Given the description of an element on the screen output the (x, y) to click on. 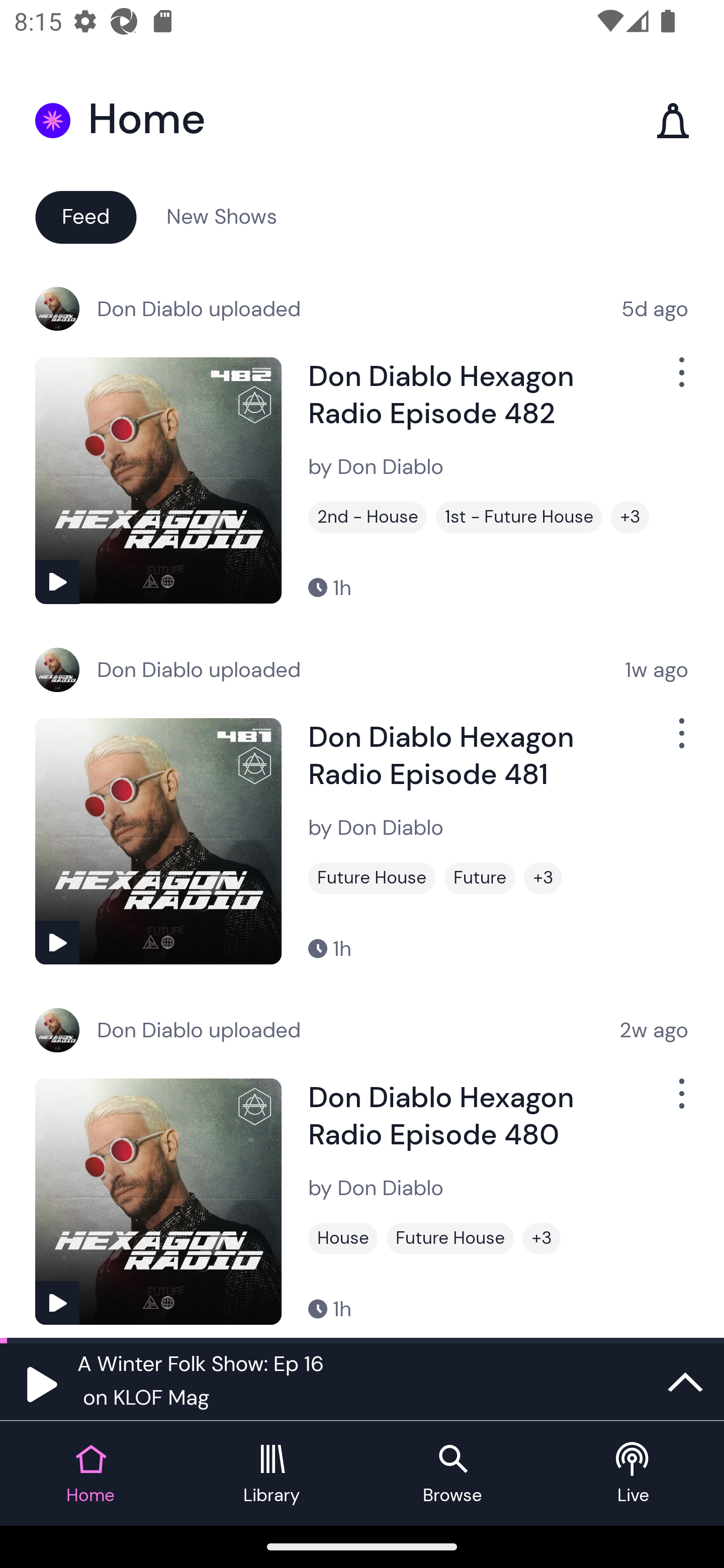
Feed (85, 216)
New Shows (221, 216)
Show Options Menu Button (679, 379)
2nd - House (367, 517)
1st - Future House (518, 517)
Show Options Menu Button (679, 740)
Future House (371, 877)
Future (479, 877)
Show Options Menu Button (679, 1101)
House (342, 1238)
Future House (450, 1238)
Home tab Home (90, 1473)
Library tab Library (271, 1473)
Browse tab Browse (452, 1473)
Live tab Live (633, 1473)
